Given the description of an element on the screen output the (x, y) to click on. 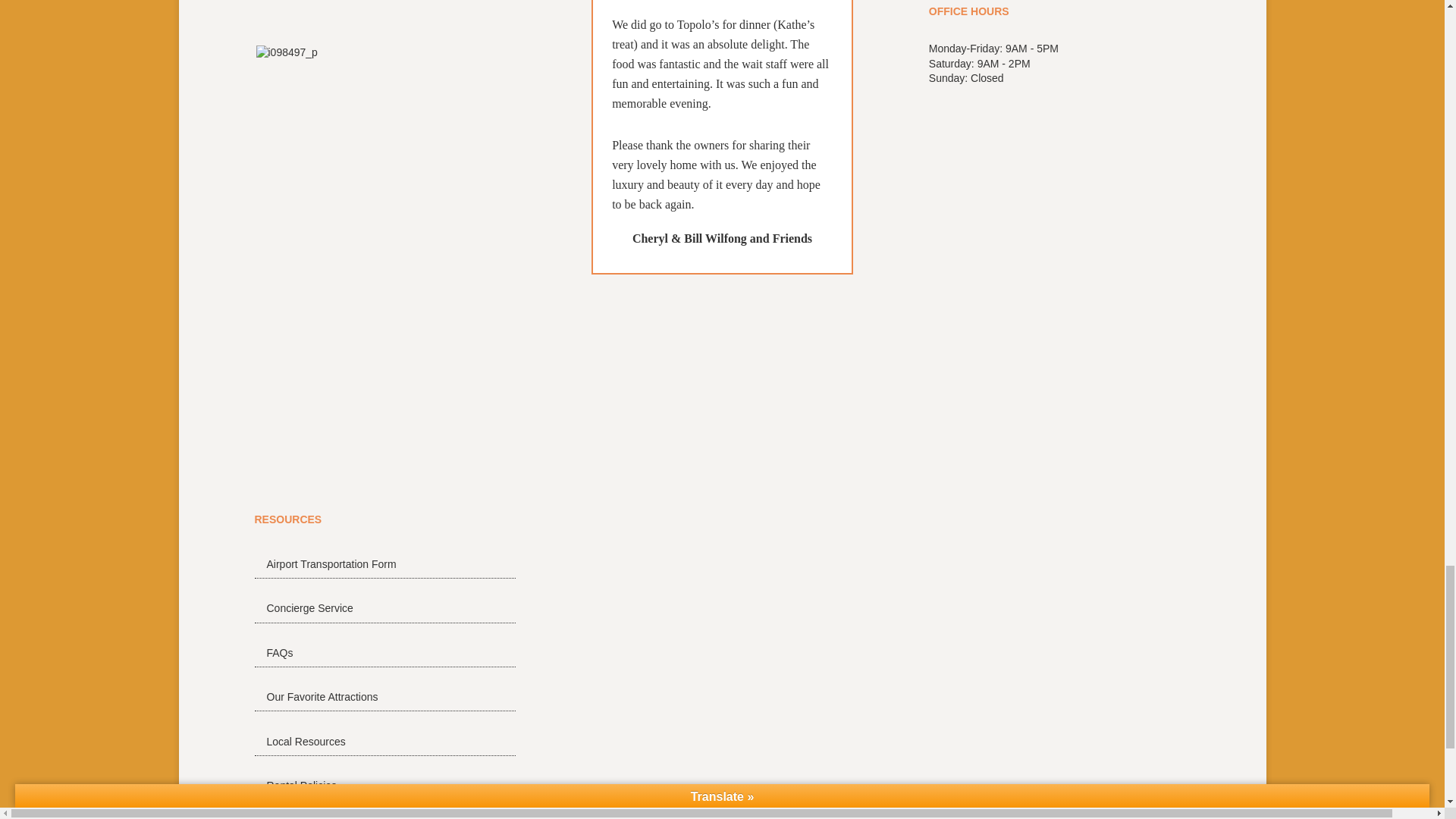
micasa-and-the-day-crew (449, 21)
